Given the description of an element on the screen output the (x, y) to click on. 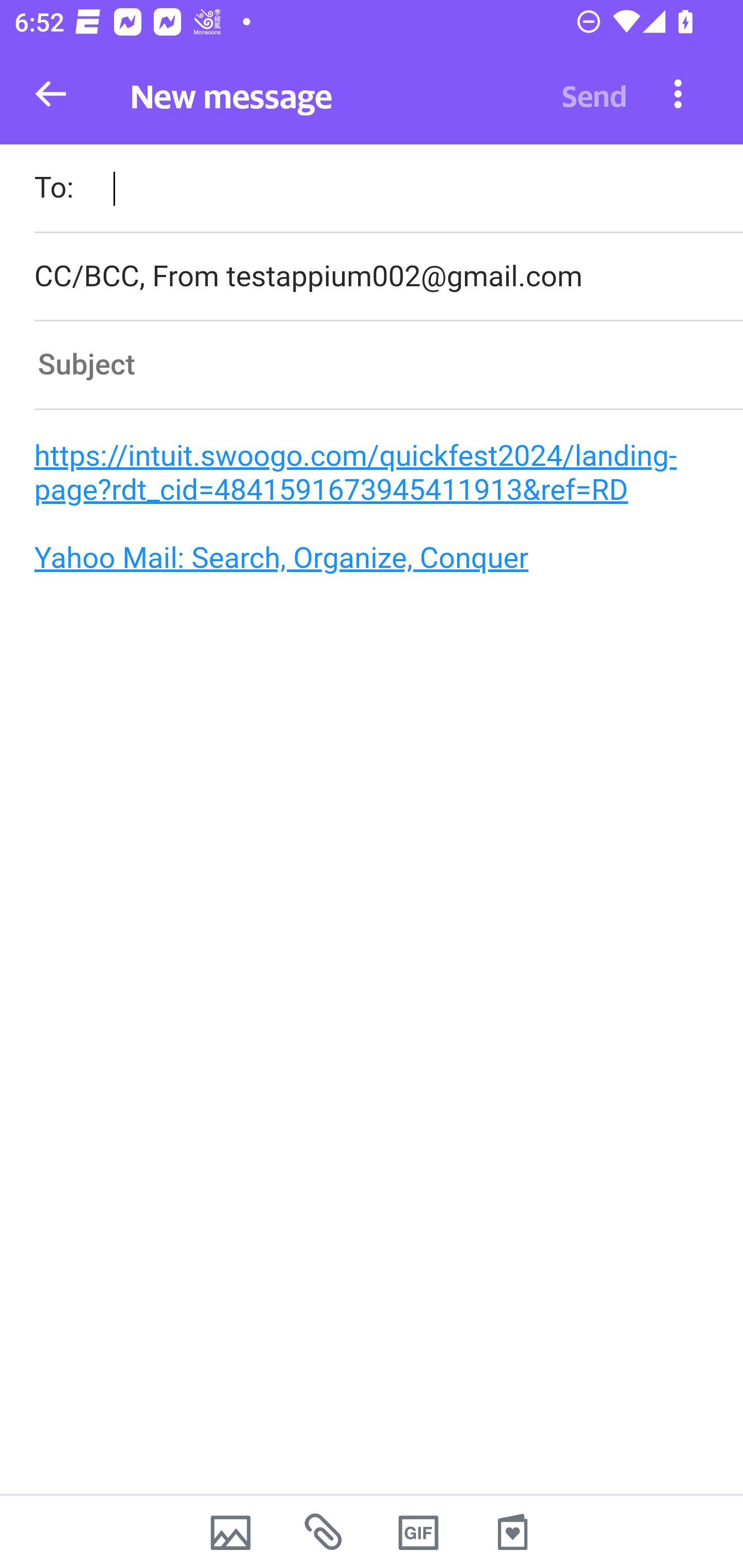
Back (50, 93)
Send (594, 93)
More options (677, 93)
To: (387, 189)
CC/BCC, From testappium002@gmail.com (387, 276)
Camera photos (230, 1531)
Recent attachments from mail (324, 1531)
GIFs (417, 1531)
Stationery (512, 1531)
